Given the description of an element on the screen output the (x, y) to click on. 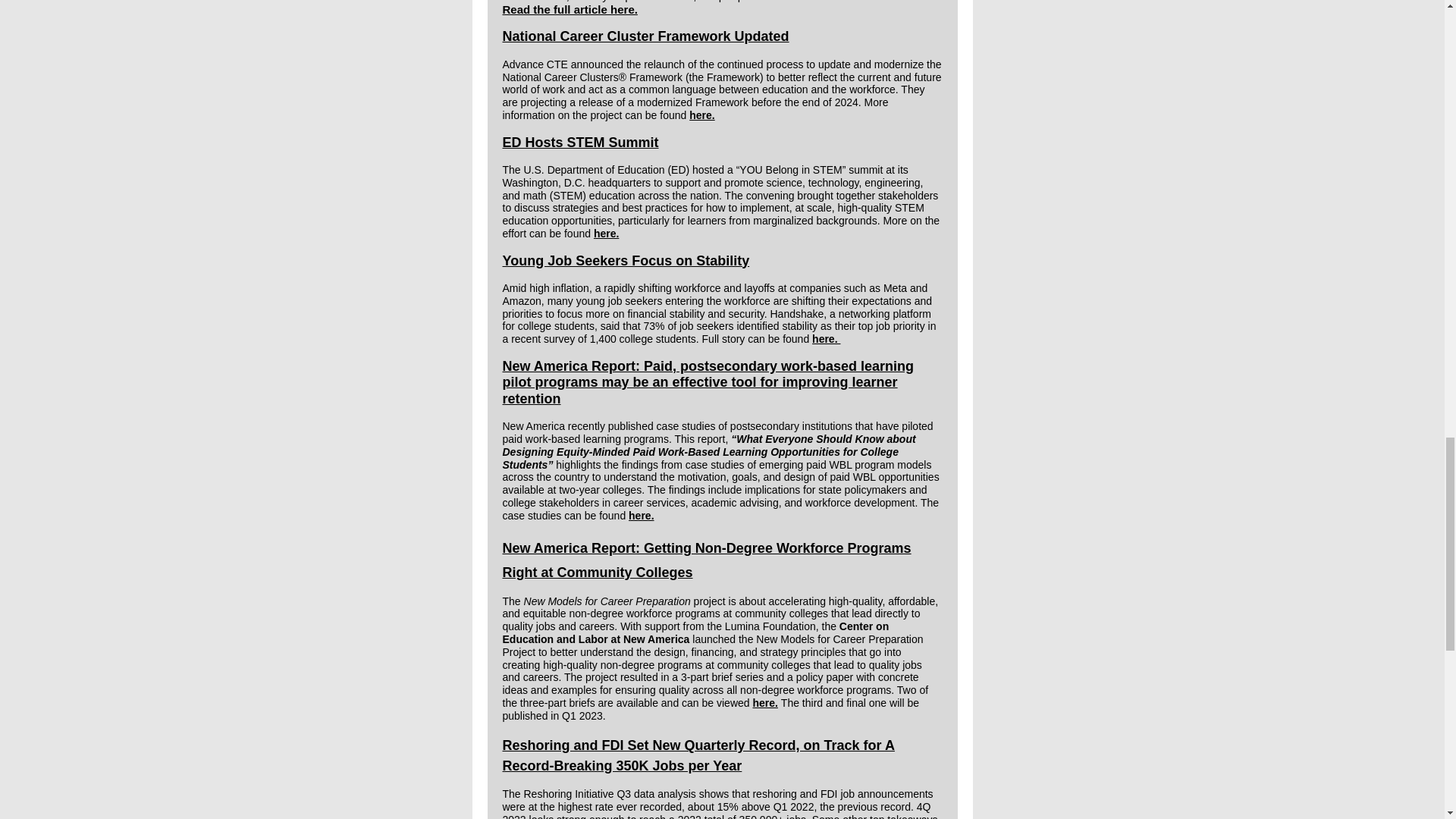
here.  (826, 338)
Read the full article here. (569, 9)
here. (640, 515)
here. (764, 702)
here. (606, 233)
here. (701, 114)
Center on Education and Labor at New America (695, 632)
